Given the description of an element on the screen output the (x, y) to click on. 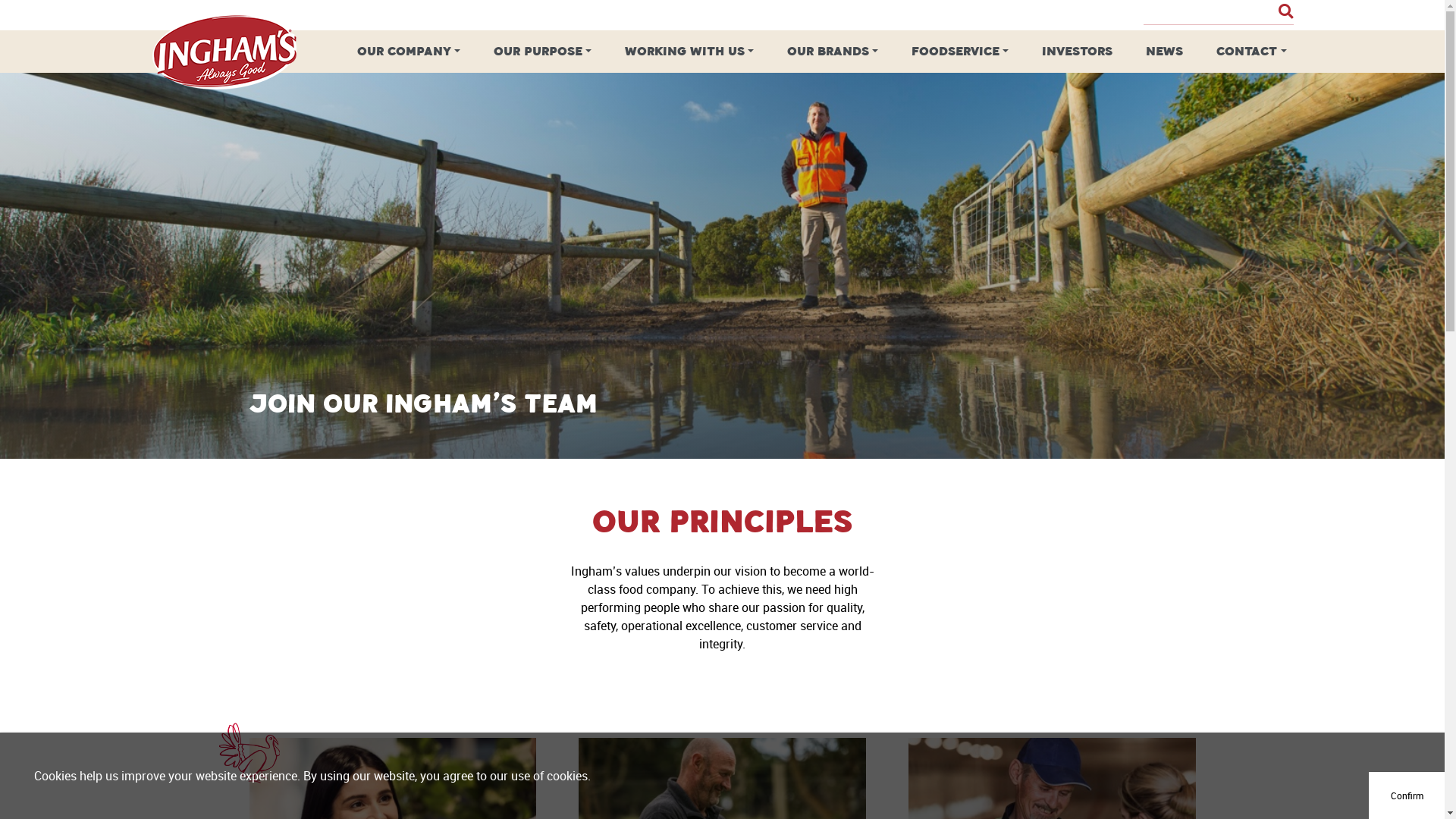
FOODSERVICE Element type: text (959, 51)
CONTACT Element type: text (1251, 51)
INVESTORS Element type: text (1076, 51)
WORKING WITH US Element type: text (688, 51)
OUR PURPOSE Element type: text (542, 51)
OUR COMPANY Element type: text (408, 51)
OUR BRANDS Element type: text (832, 51)
NEWS Element type: text (1164, 51)
